Given the description of an element on the screen output the (x, y) to click on. 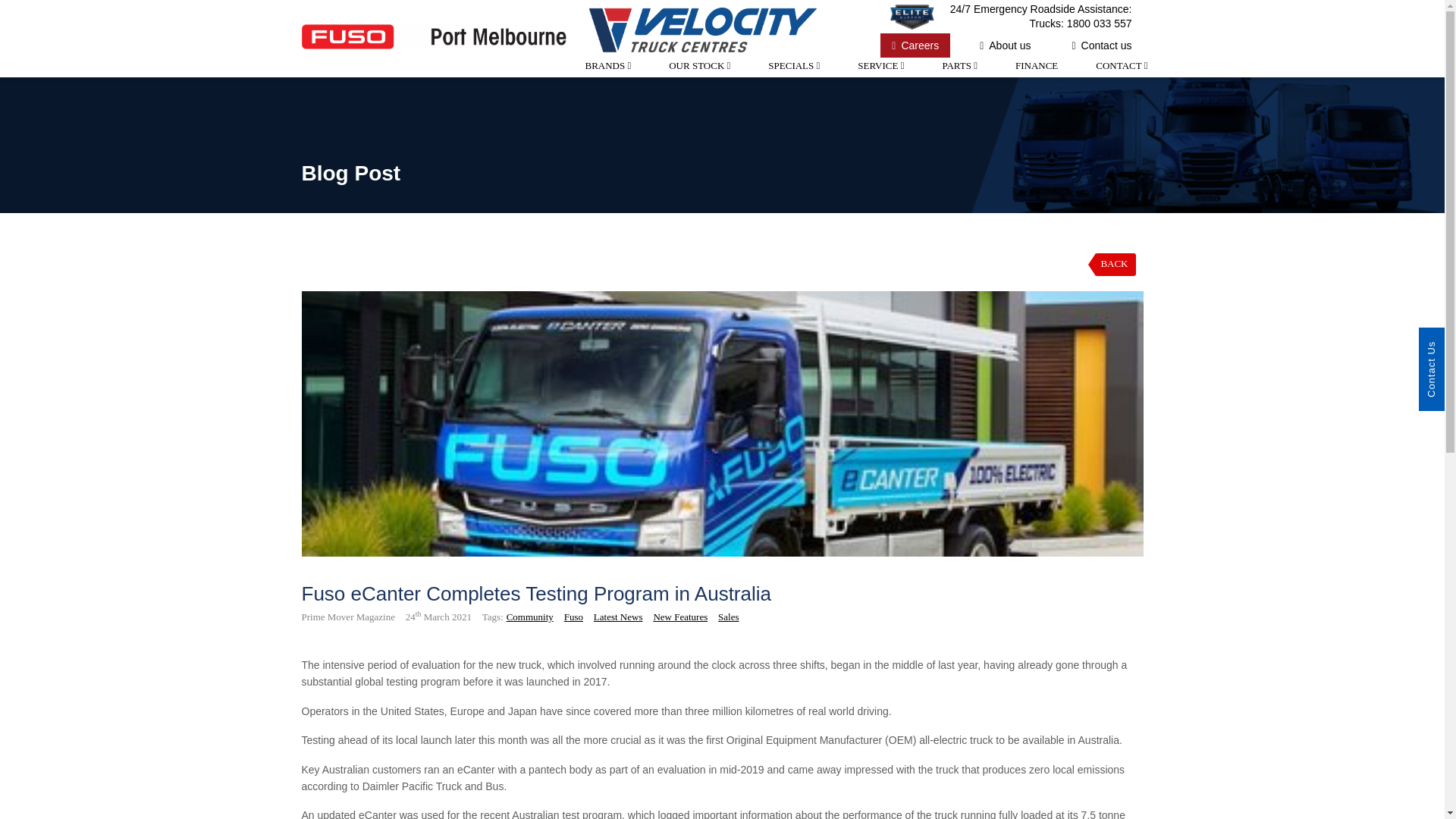
1800 033 557 (1099, 23)
Contact us (1100, 45)
About us (1005, 45)
Careers (915, 45)
OUR STOCK (699, 76)
SPECIALS (793, 76)
